Given the description of an element on the screen output the (x, y) to click on. 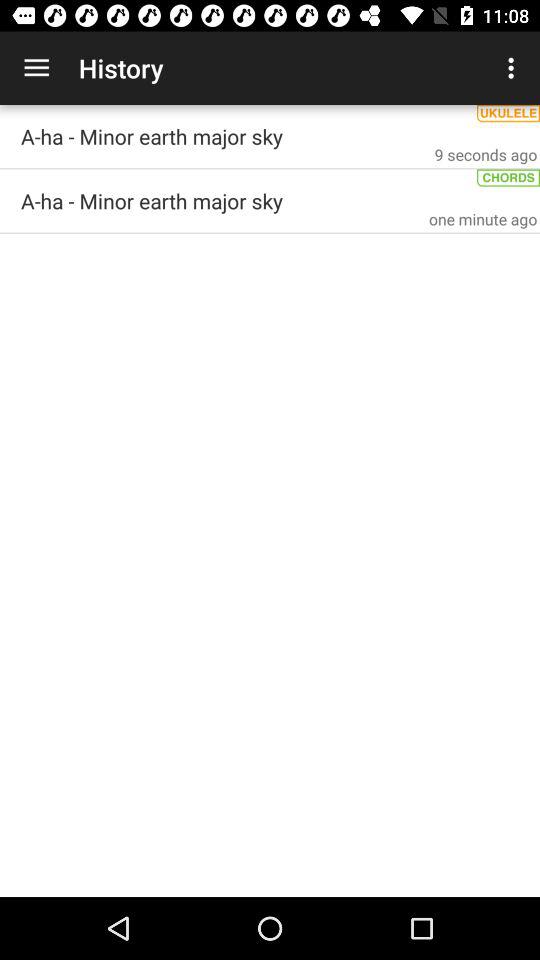
open the item to the left of the history app (36, 68)
